Given the description of an element on the screen output the (x, y) to click on. 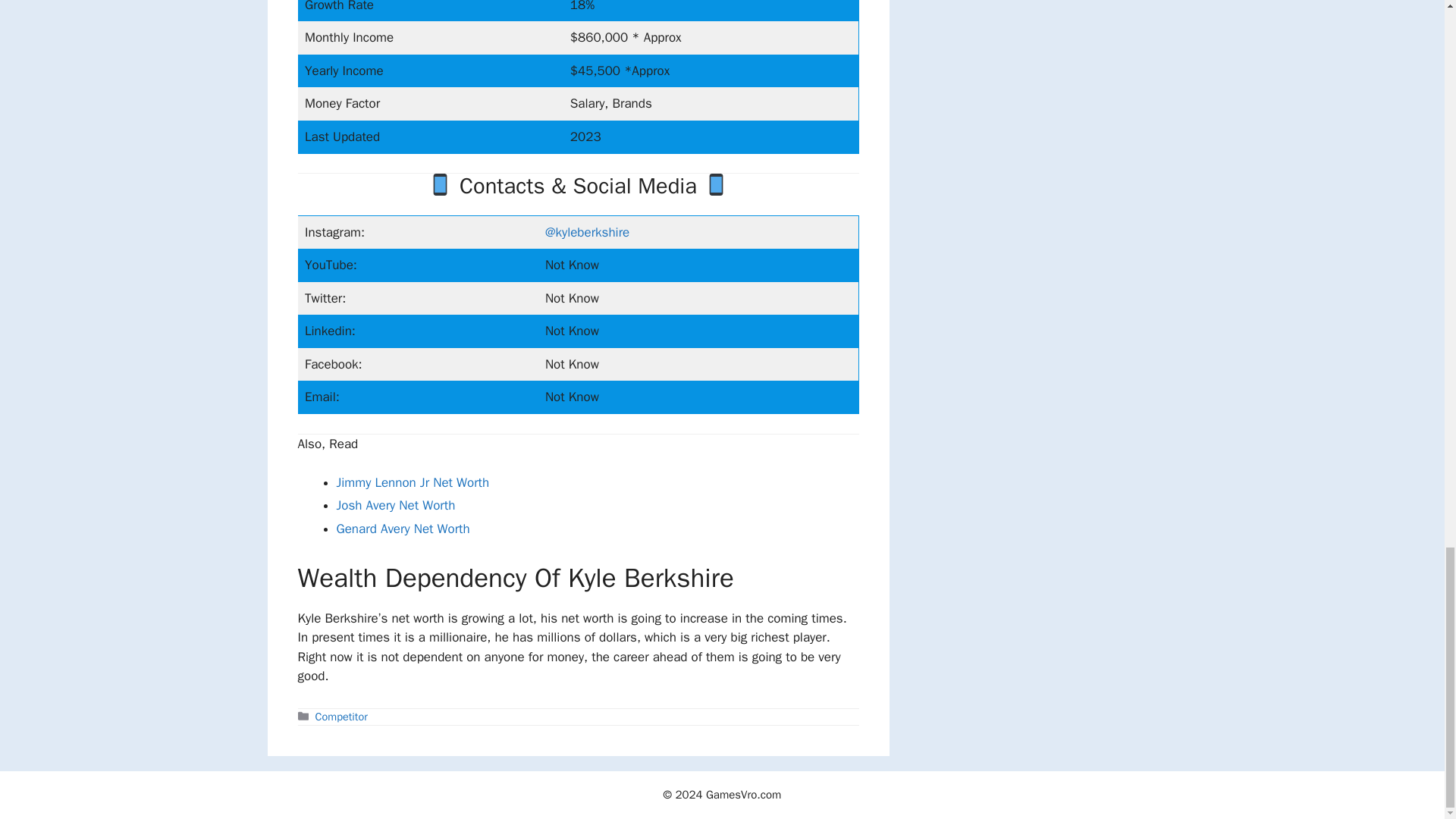
Genard Avery Net Worth (403, 528)
Jimmy Lennon Jr Net Worth (412, 482)
Josh Avery Net Worth (395, 505)
Competitor (341, 716)
